Given the description of an element on the screen output the (x, y) to click on. 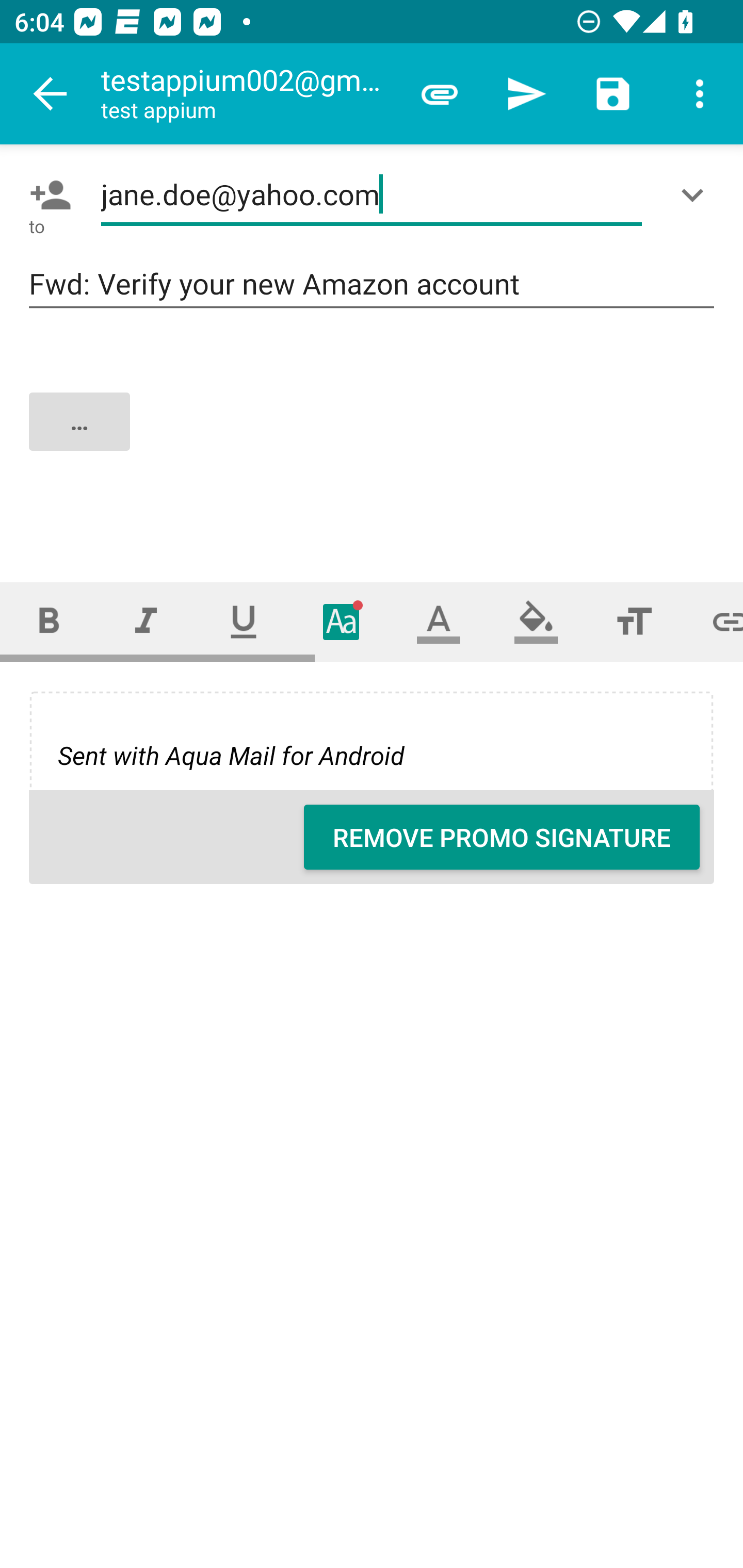
Navigate up (50, 93)
testappium002@gmail.com test appium (248, 93)
Attach (439, 93)
Send (525, 93)
Save (612, 93)
More options (699, 93)
Pick contact: To (46, 195)
Show/Add CC/BCC (696, 195)
jane.doe@yahoo.com (371, 195)
Fwd: Verify your new Amazon account (371, 284)

…
 (372, 438)
Bold (48, 621)
Italic (145, 621)
Underline (243, 621)
Typeface (font) (341, 621)
Text color (438, 621)
Fill color (536, 621)
Font size (633, 621)
REMOVE PROMO SIGNATURE (501, 837)
